Given the description of an element on the screen output the (x, y) to click on. 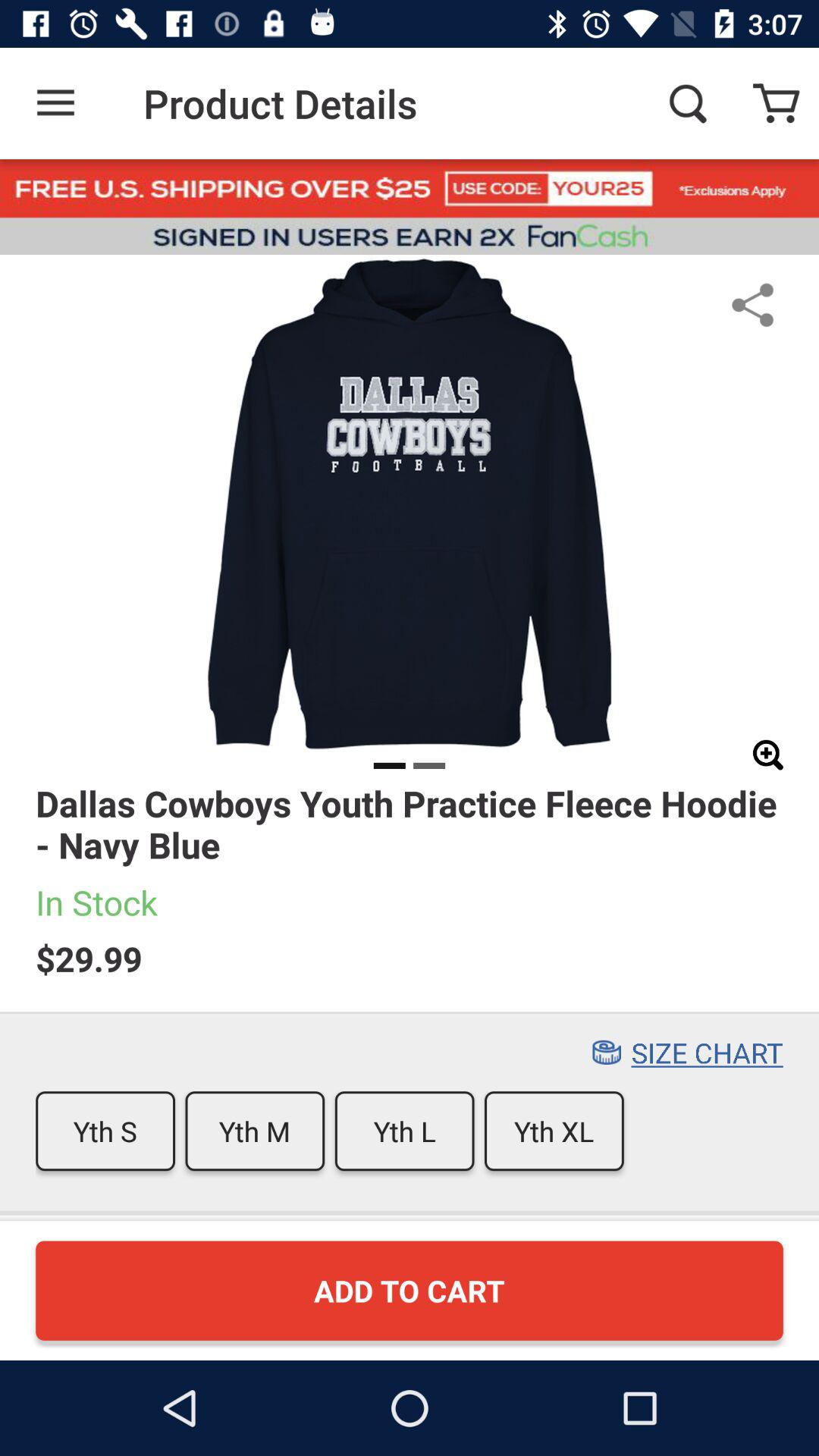
jump until the yth l icon (404, 1131)
